Given the description of an element on the screen output the (x, y) to click on. 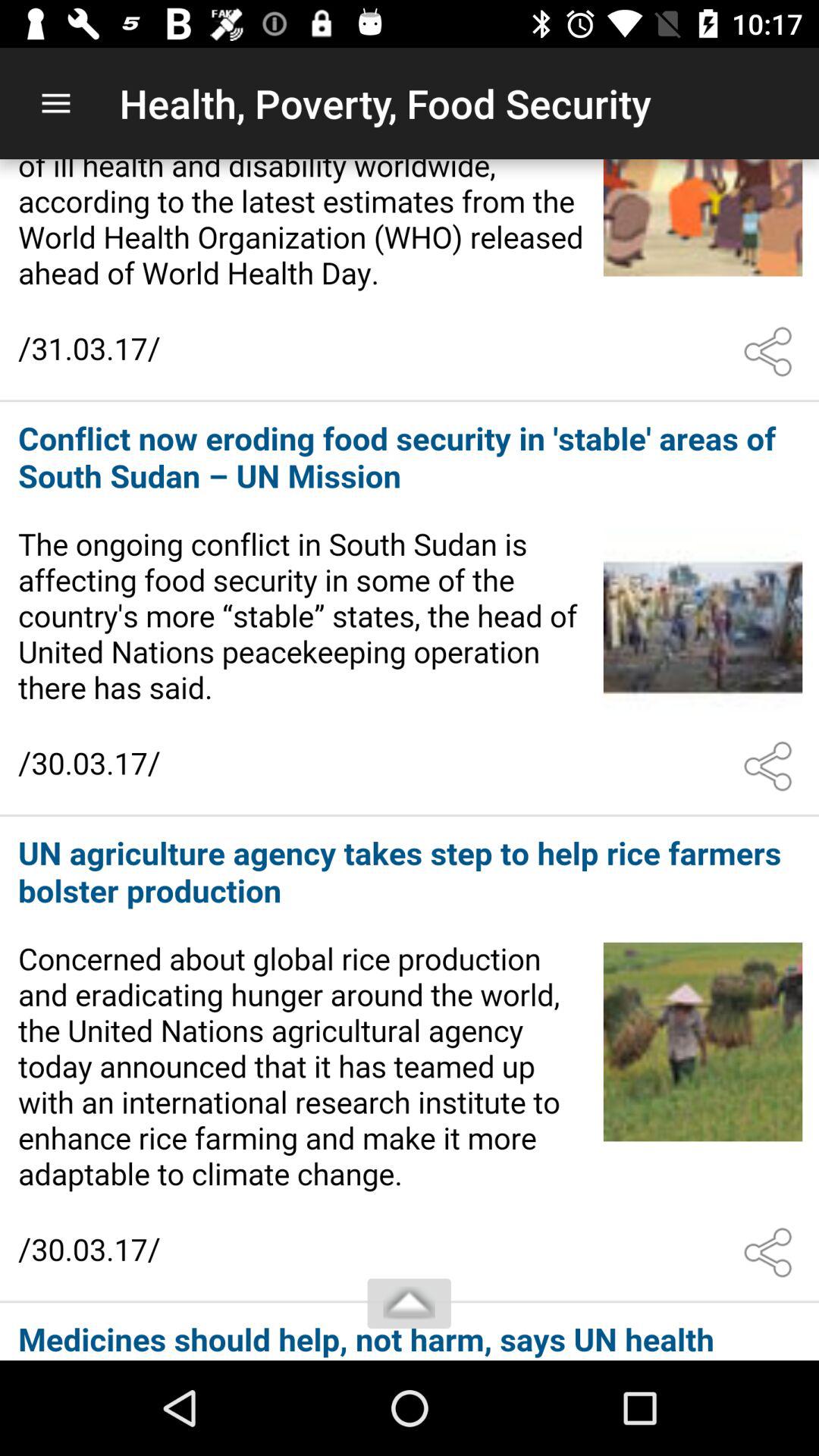
read article (409, 279)
